Given the description of an element on the screen output the (x, y) to click on. 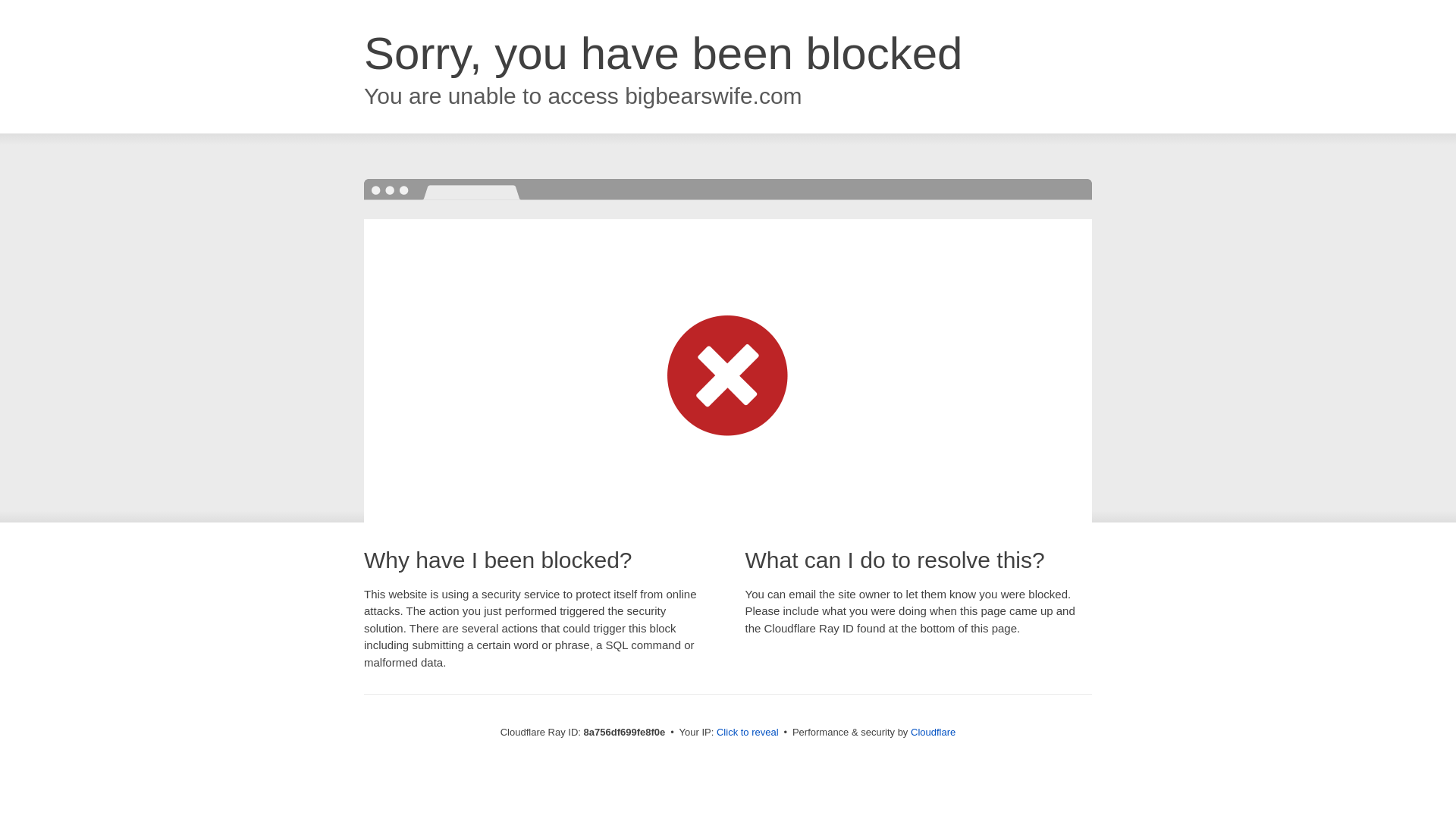
Cloudflare (933, 731)
Click to reveal (747, 732)
